Given the description of an element on the screen output the (x, y) to click on. 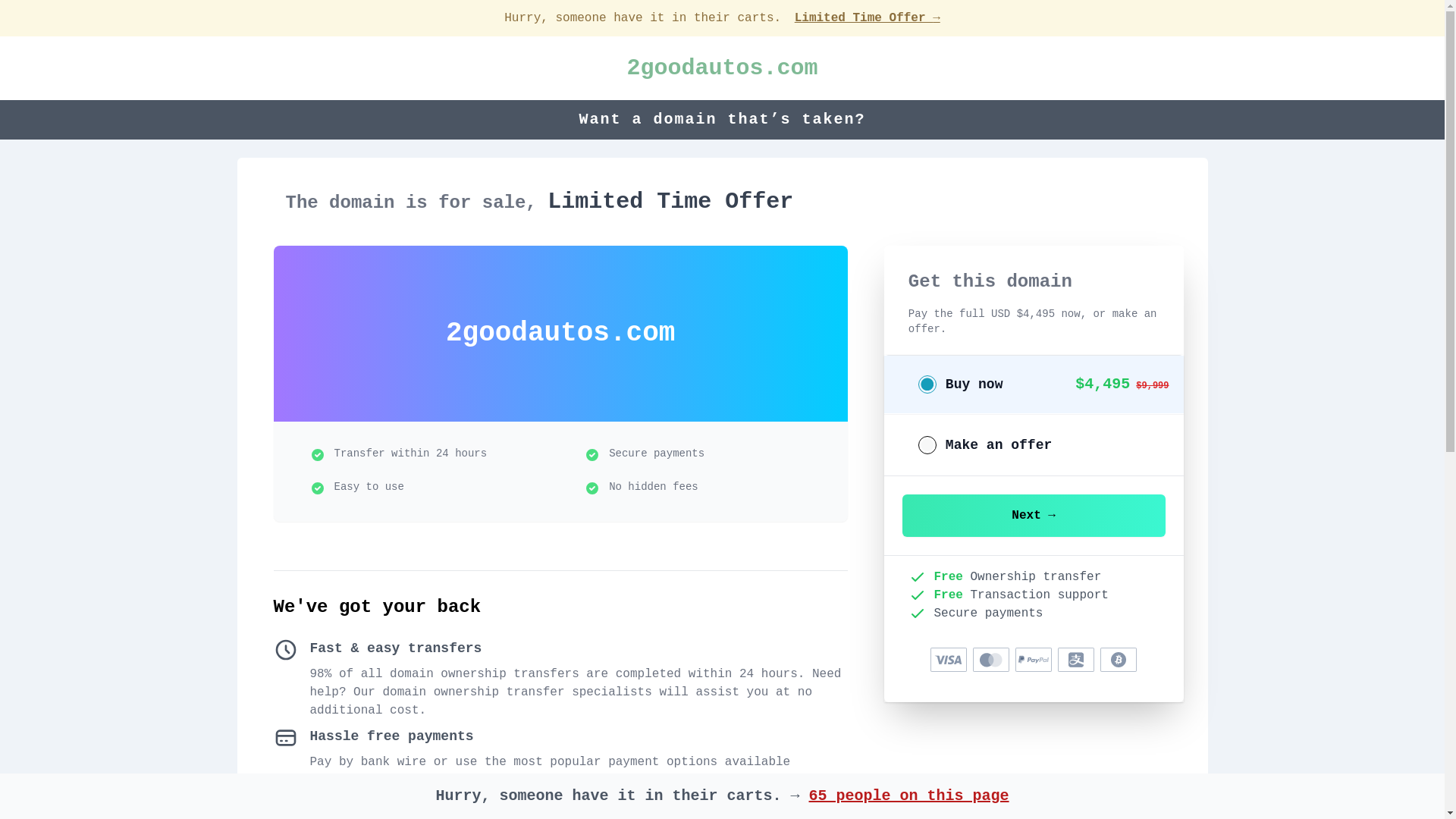
2goodautos.com Element type: text (721, 67)
2goodautos.com Element type: text (721, 68)
